Given the description of an element on the screen output the (x, y) to click on. 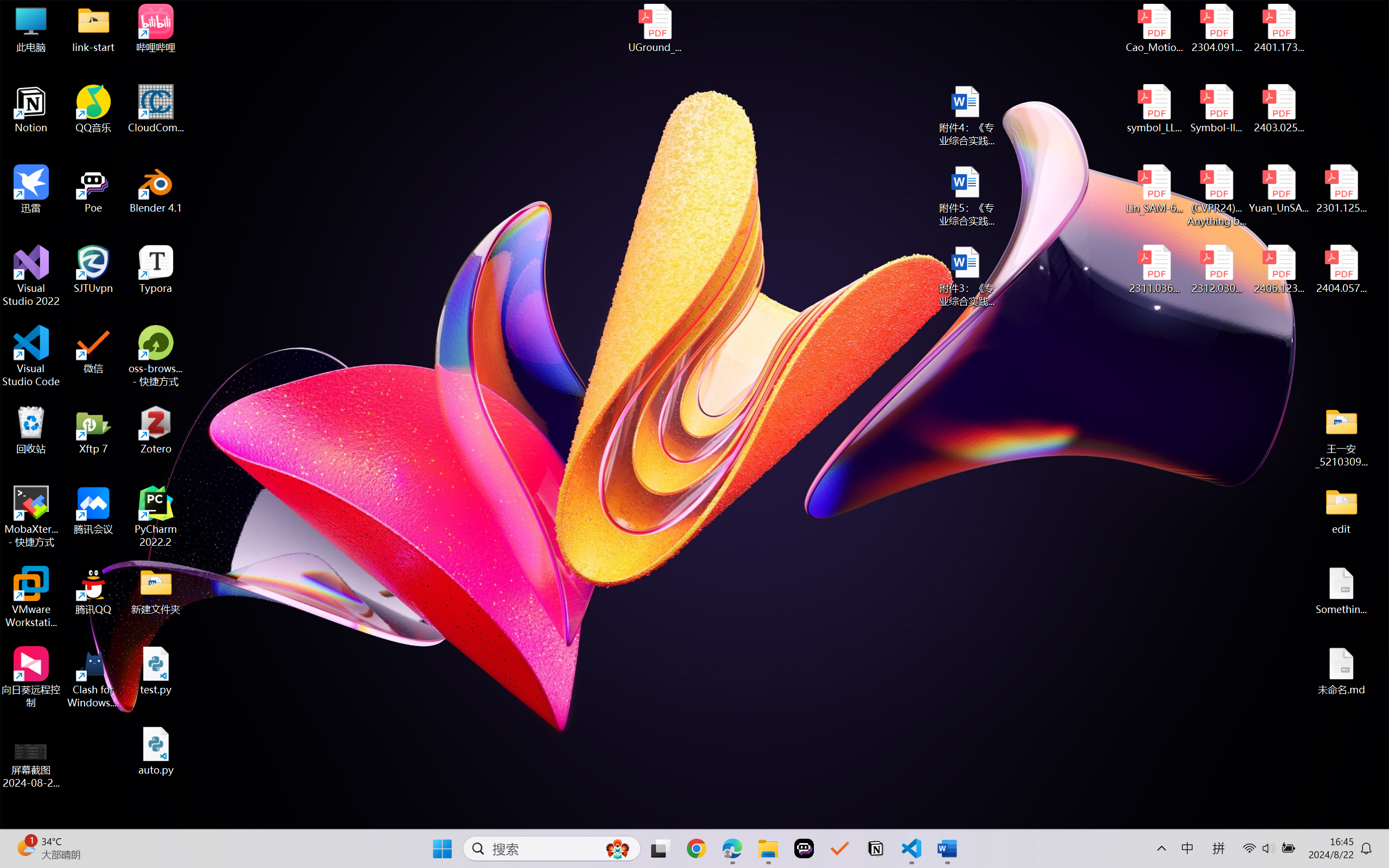
Blender 4.1 (156, 189)
